Given the description of an element on the screen output the (x, y) to click on. 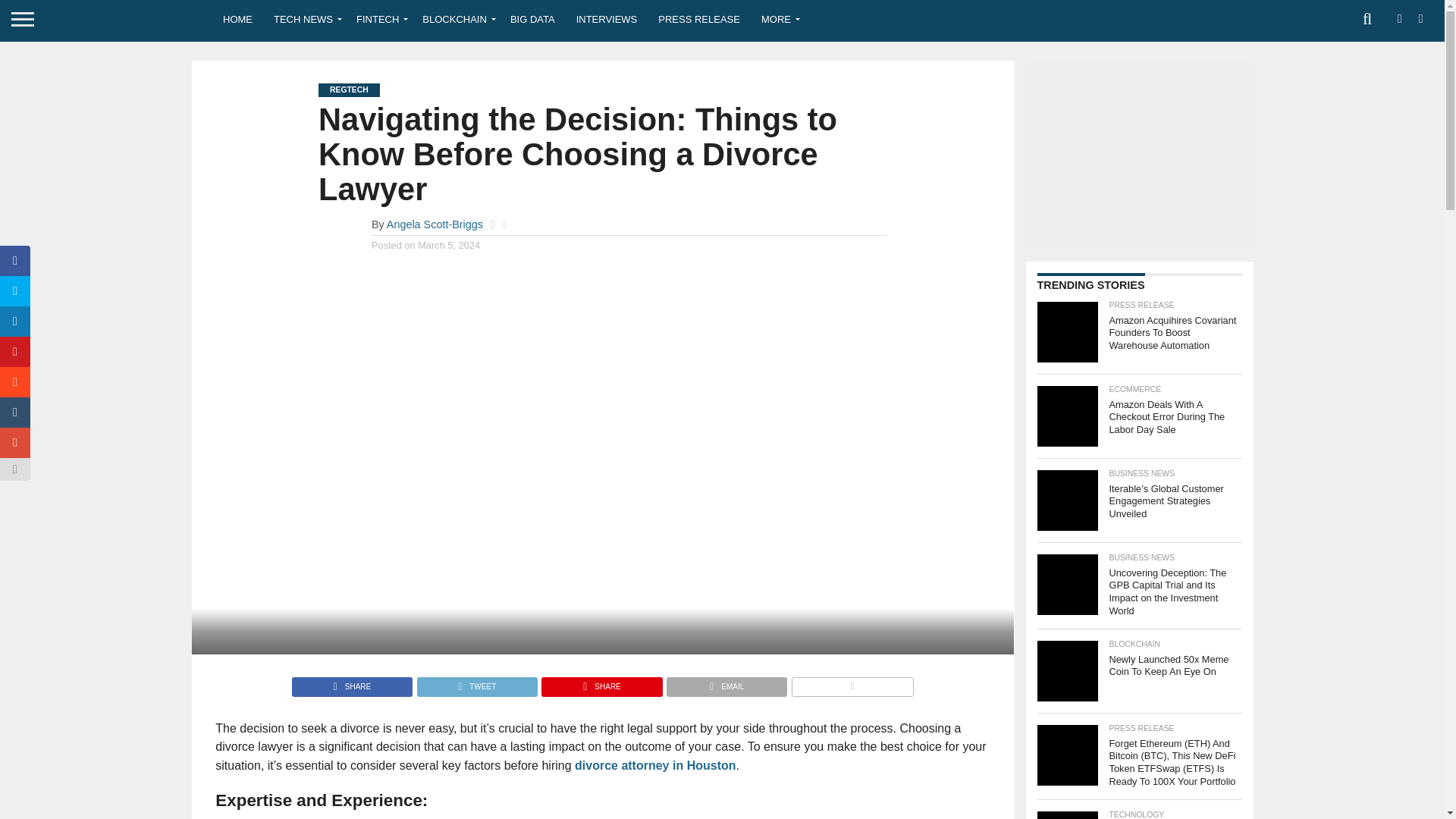
Pin This Post (601, 682)
Posts by Angela Scott-Briggs (435, 224)
Share on Facebook (352, 682)
Tweet This Post (476, 682)
